Given the description of an element on the screen output the (x, y) to click on. 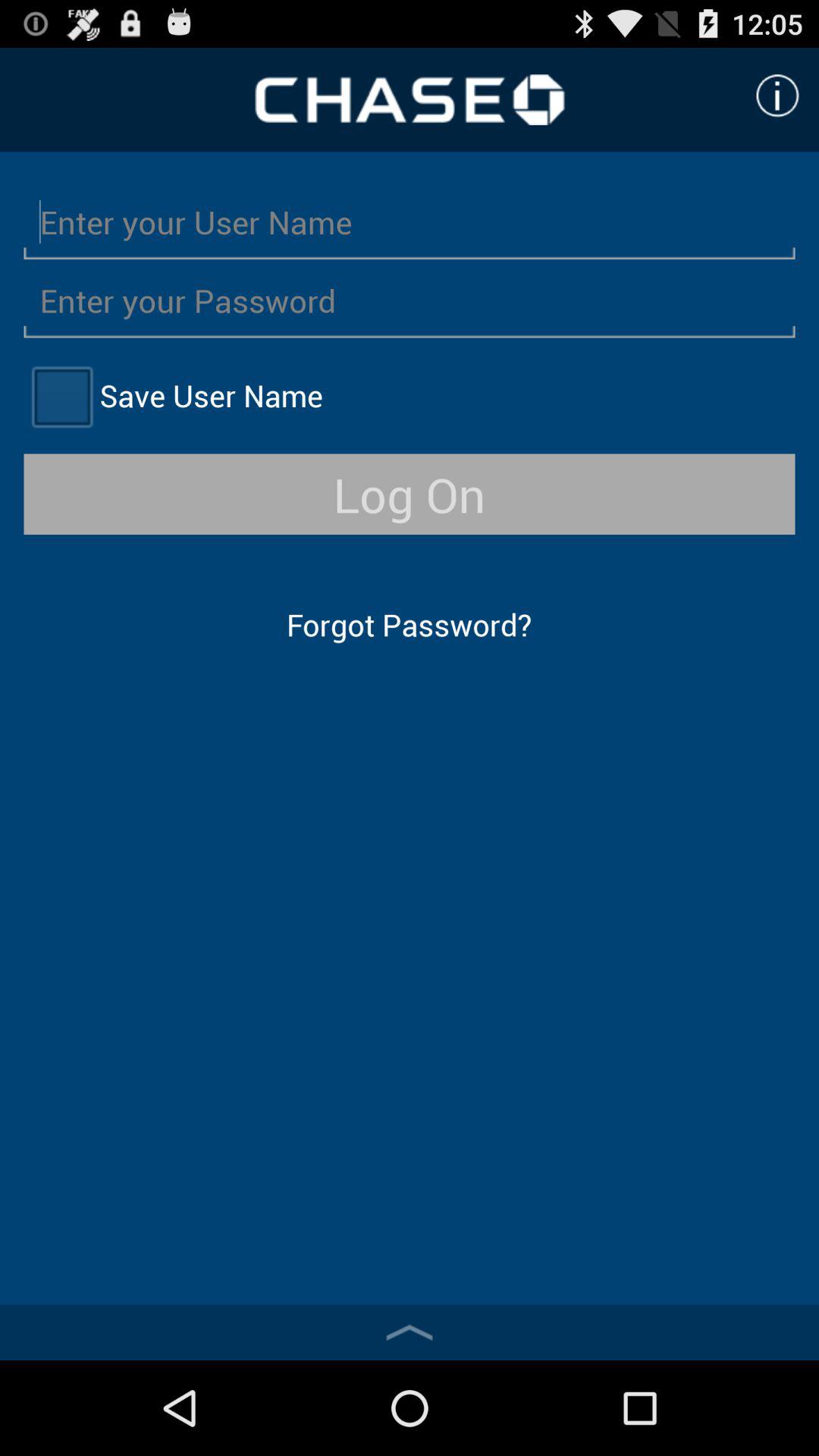
click for more information (777, 95)
